Given the description of an element on the screen output the (x, y) to click on. 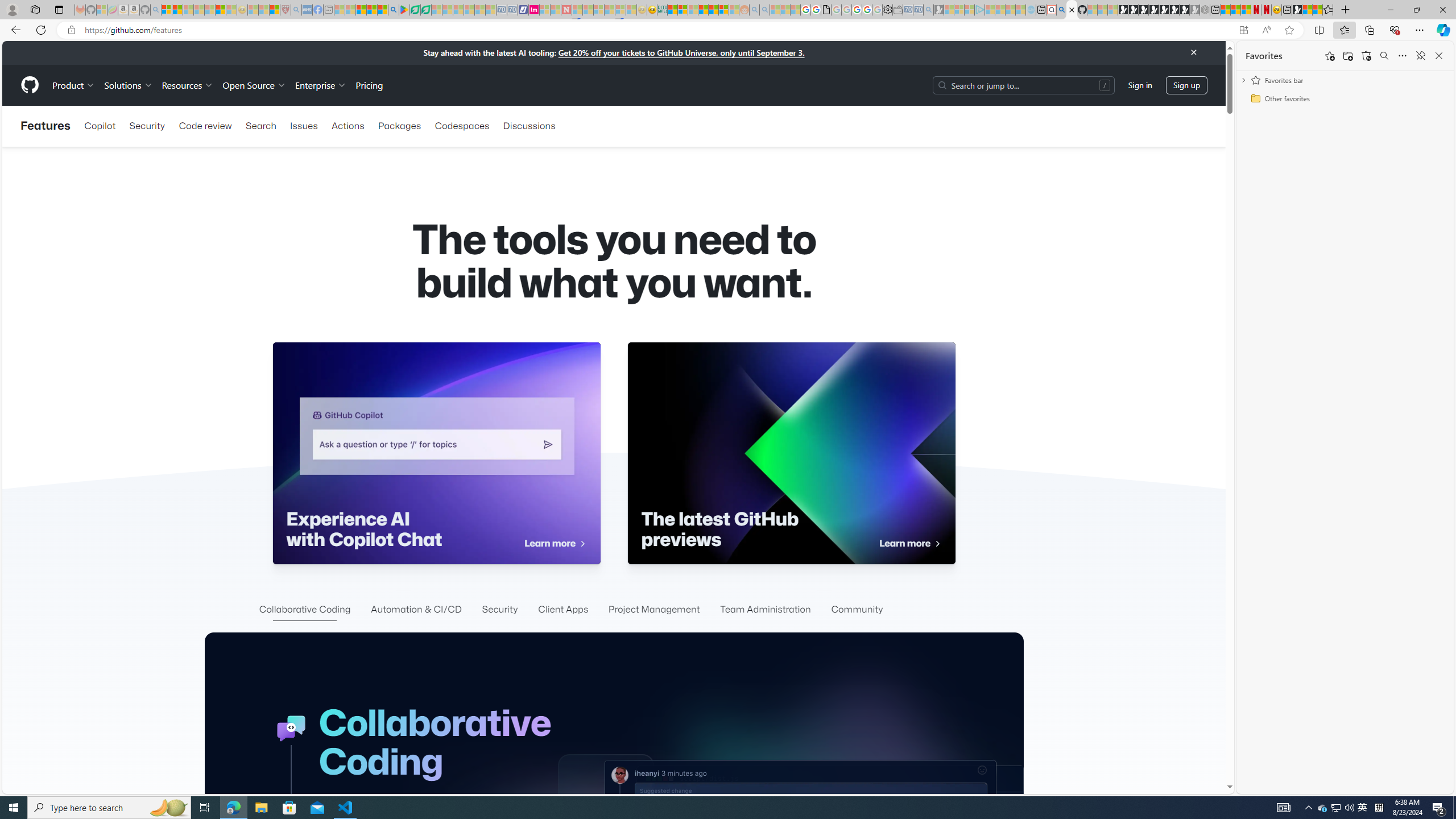
Code review (205, 125)
Add this page to favorites (1330, 55)
Codespaces (461, 125)
Class: octicon arrow-symbol-mktg octicon (936, 543)
Open Source (254, 84)
